Given the description of an element on the screen output the (x, y) to click on. 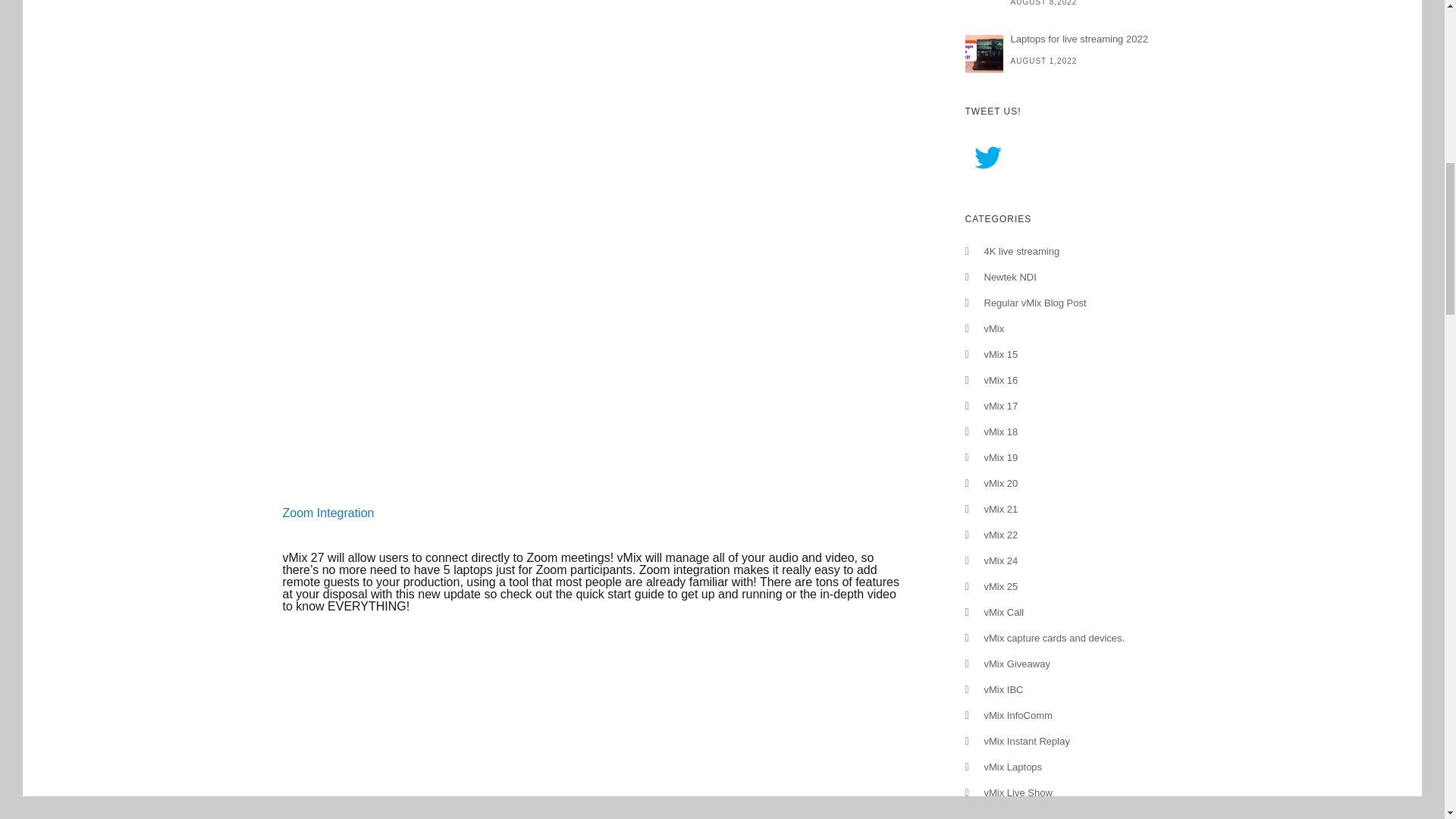
4K live streaming (1021, 251)
vMix 15 (1000, 354)
vMix (994, 328)
Regular vMix Blog Post (1035, 302)
Laptops for live streaming 2022 (1062, 39)
vMix 16 (1000, 379)
Newtek NDI (1010, 276)
vMix 17 (1000, 405)
